Given the description of an element on the screen output the (x, y) to click on. 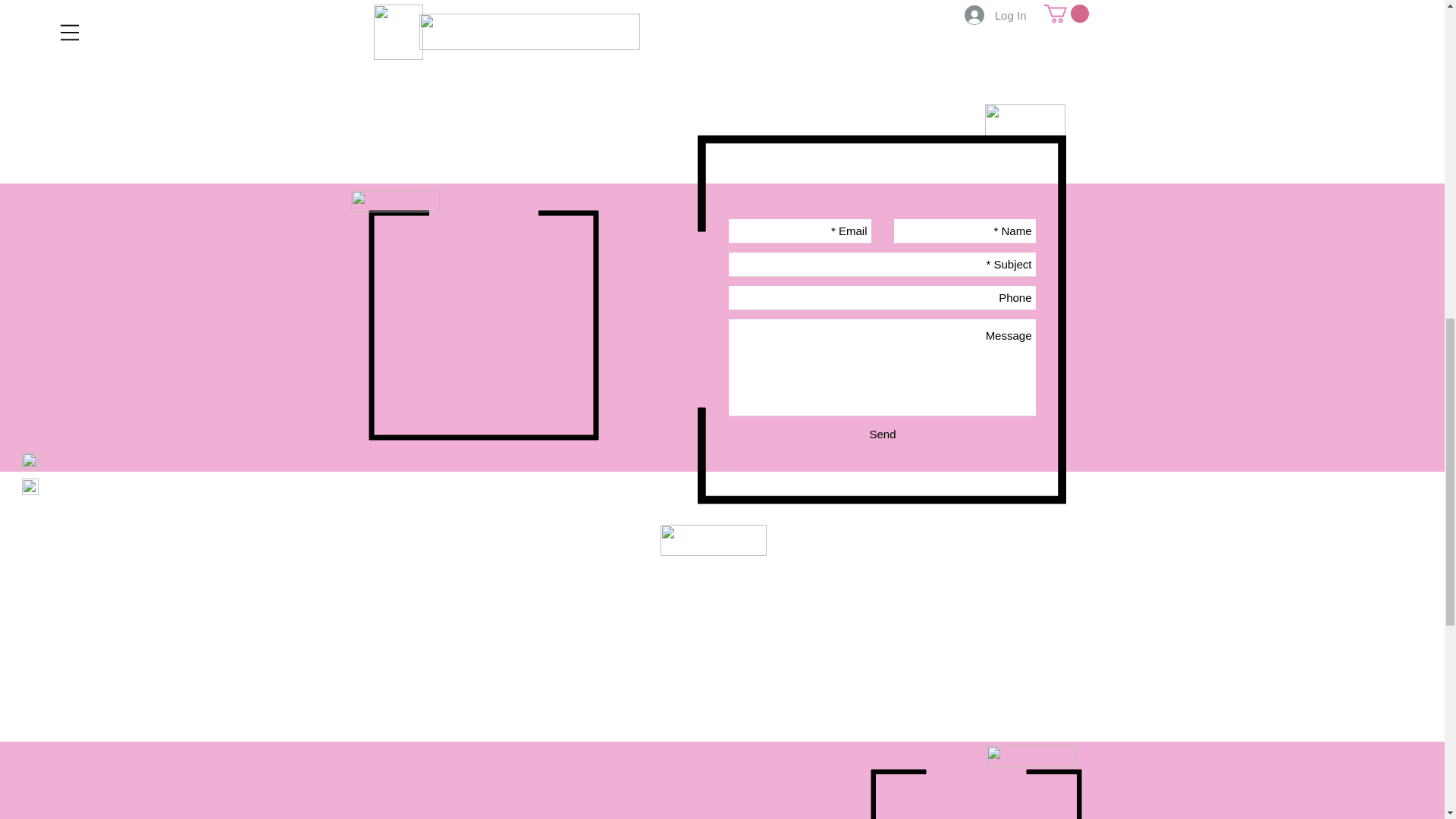
Send (882, 433)
